Given the description of an element on the screen output the (x, y) to click on. 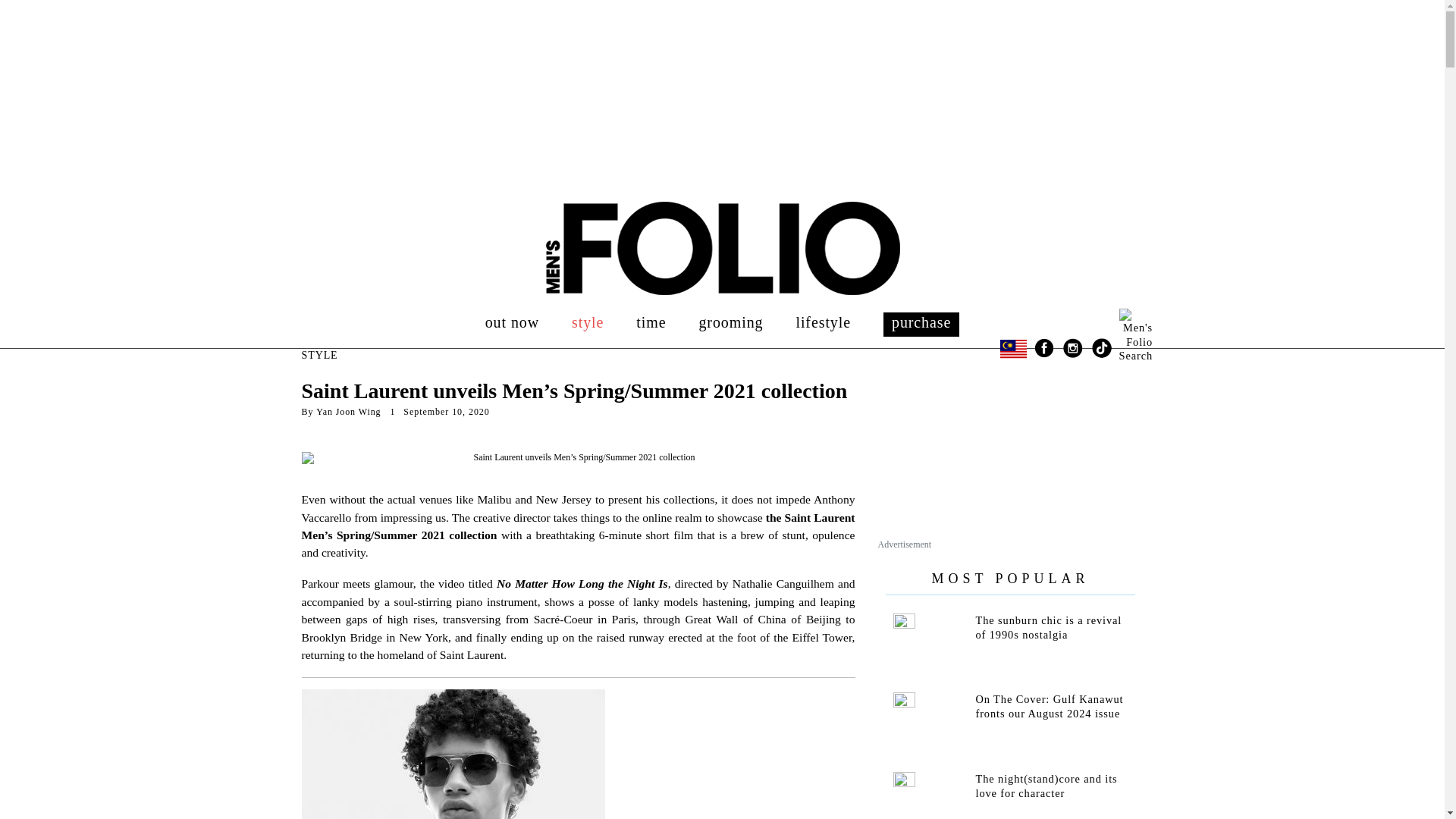
Men's Folio Malaysia - Latest in Men's Fashion and Lifestyle (722, 248)
grooming (730, 322)
out now (511, 322)
Men's Folio Malaysia Instagram (1072, 347)
Men's Folio Search (1130, 319)
time (650, 322)
purchase (920, 322)
Men's Folio Malaysia TikTok (1101, 347)
style (588, 322)
